Given the description of an element on the screen output the (x, y) to click on. 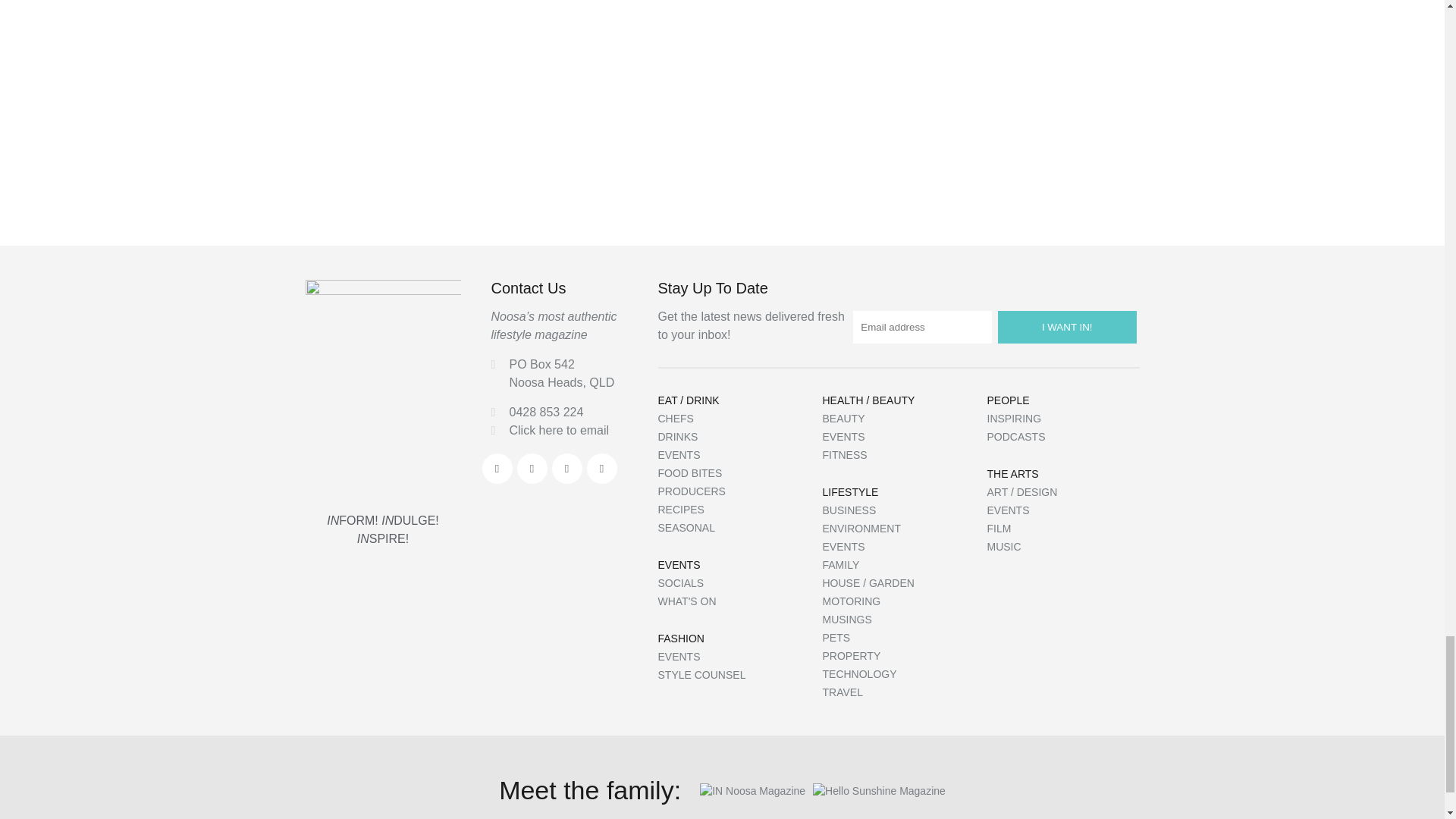
I want in! (1067, 327)
